Given the description of an element on the screen output the (x, y) to click on. 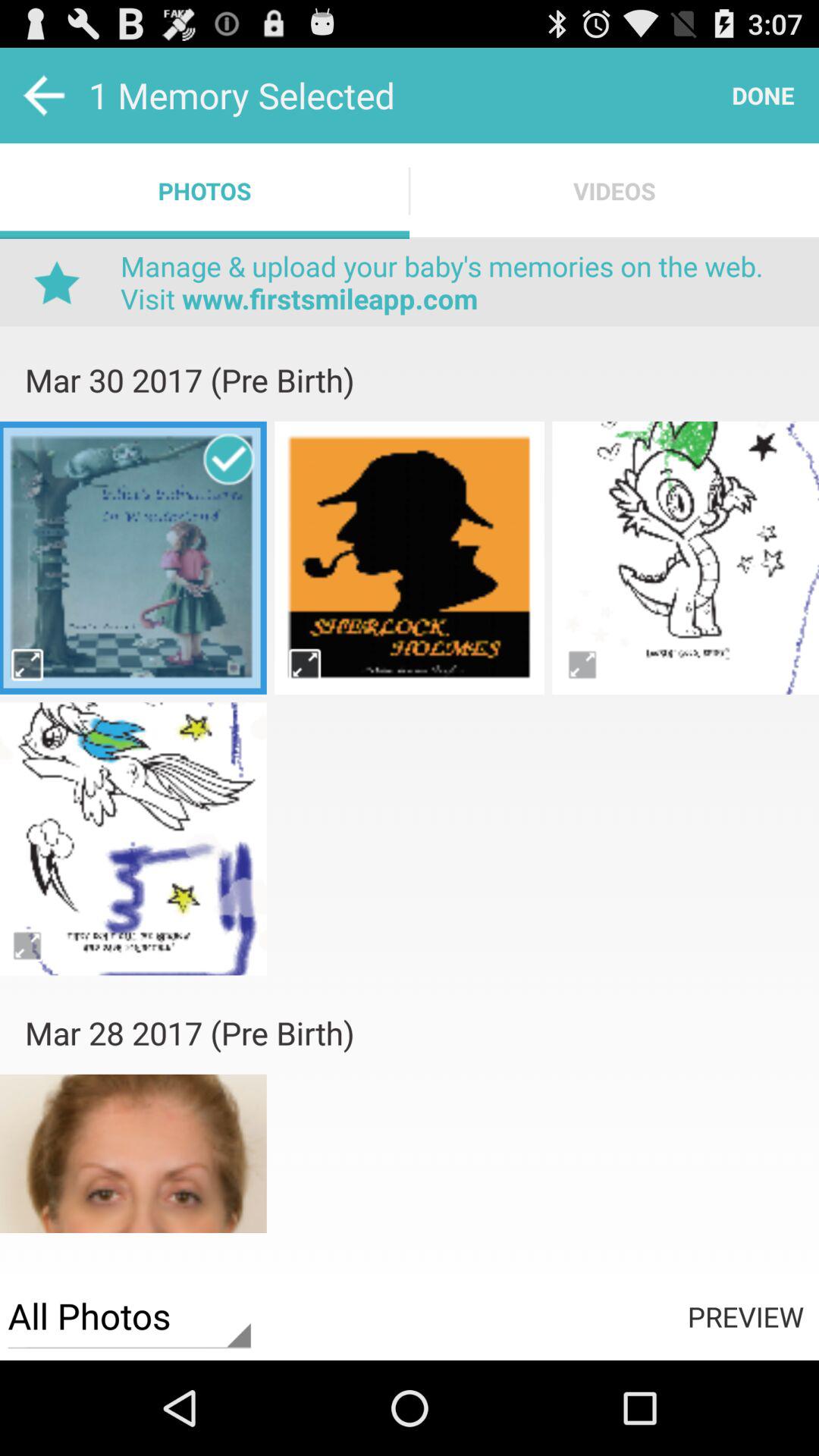
search pega (304, 664)
